Given the description of an element on the screen output the (x, y) to click on. 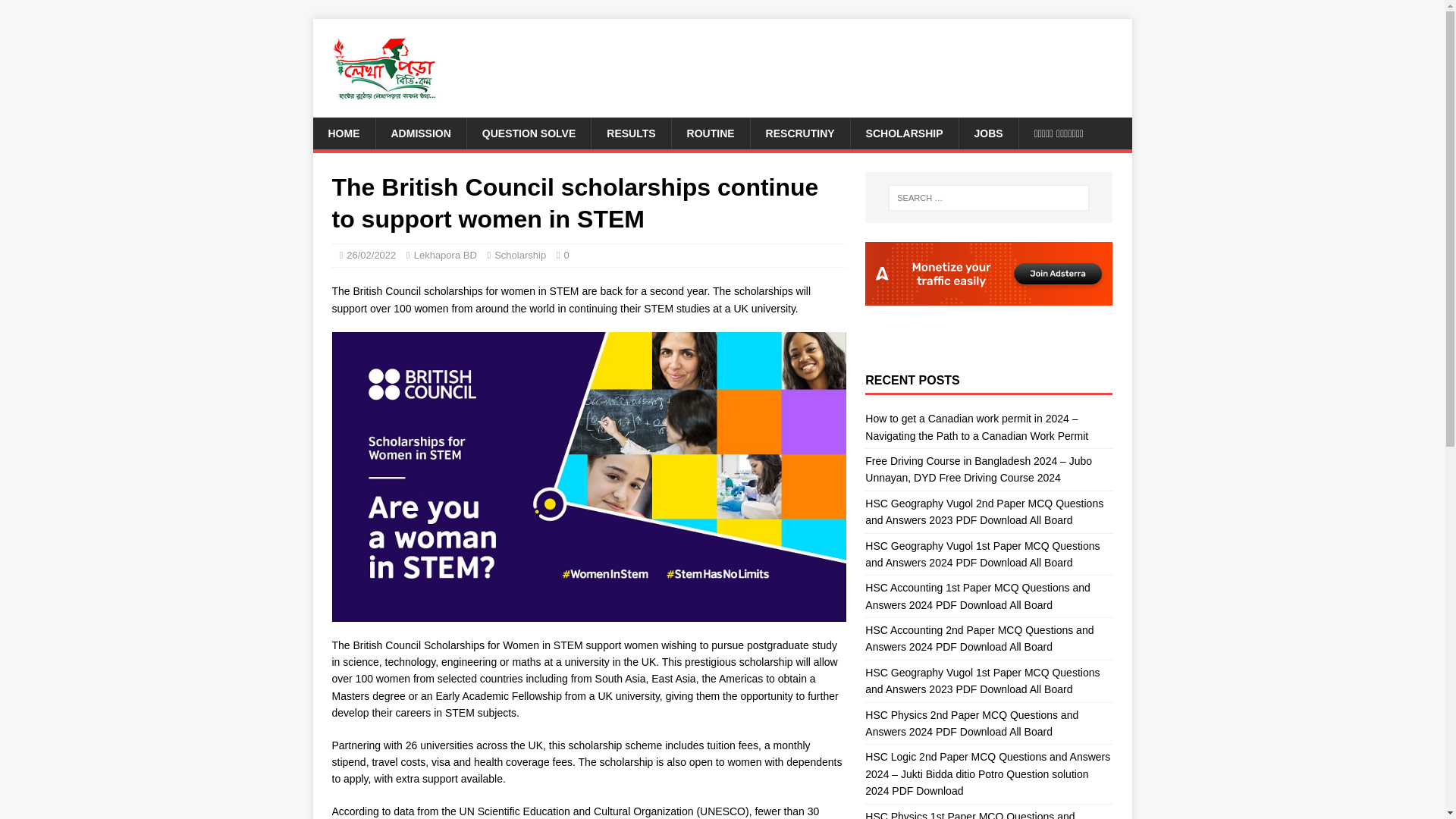
ADMISSION (419, 133)
HOME (343, 133)
Scholarship (520, 255)
QUESTION SOLVE (528, 133)
Lekhapora BD (445, 255)
RESCRUTINY (799, 133)
JOBS (987, 133)
SCHOLARSHIP (904, 133)
